Given the description of an element on the screen output the (x, y) to click on. 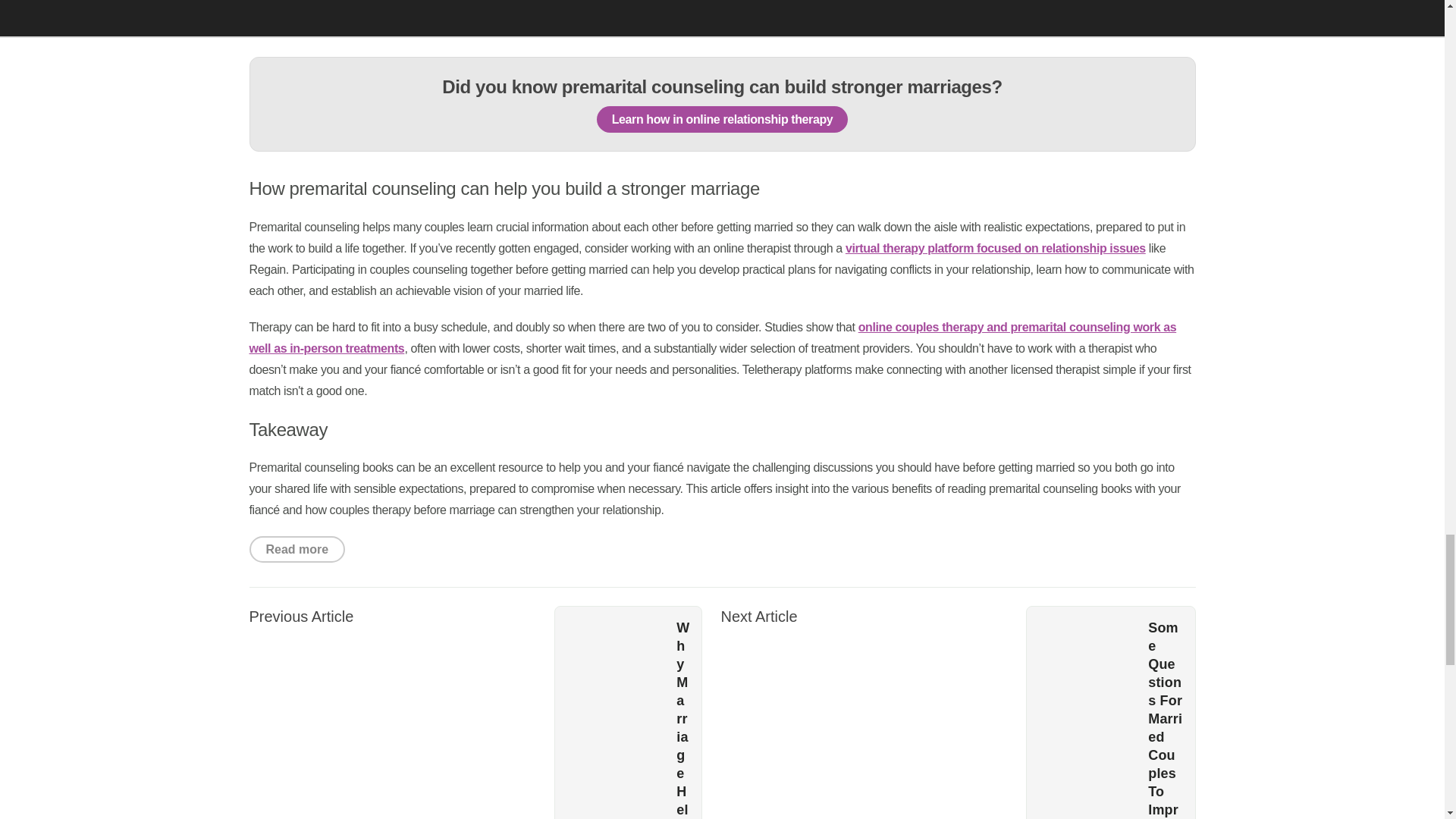
Learn how in online relationship therapy (722, 119)
virtual therapy platform focused on relationship issues (995, 247)
Read more (296, 549)
